Given the description of an element on the screen output the (x, y) to click on. 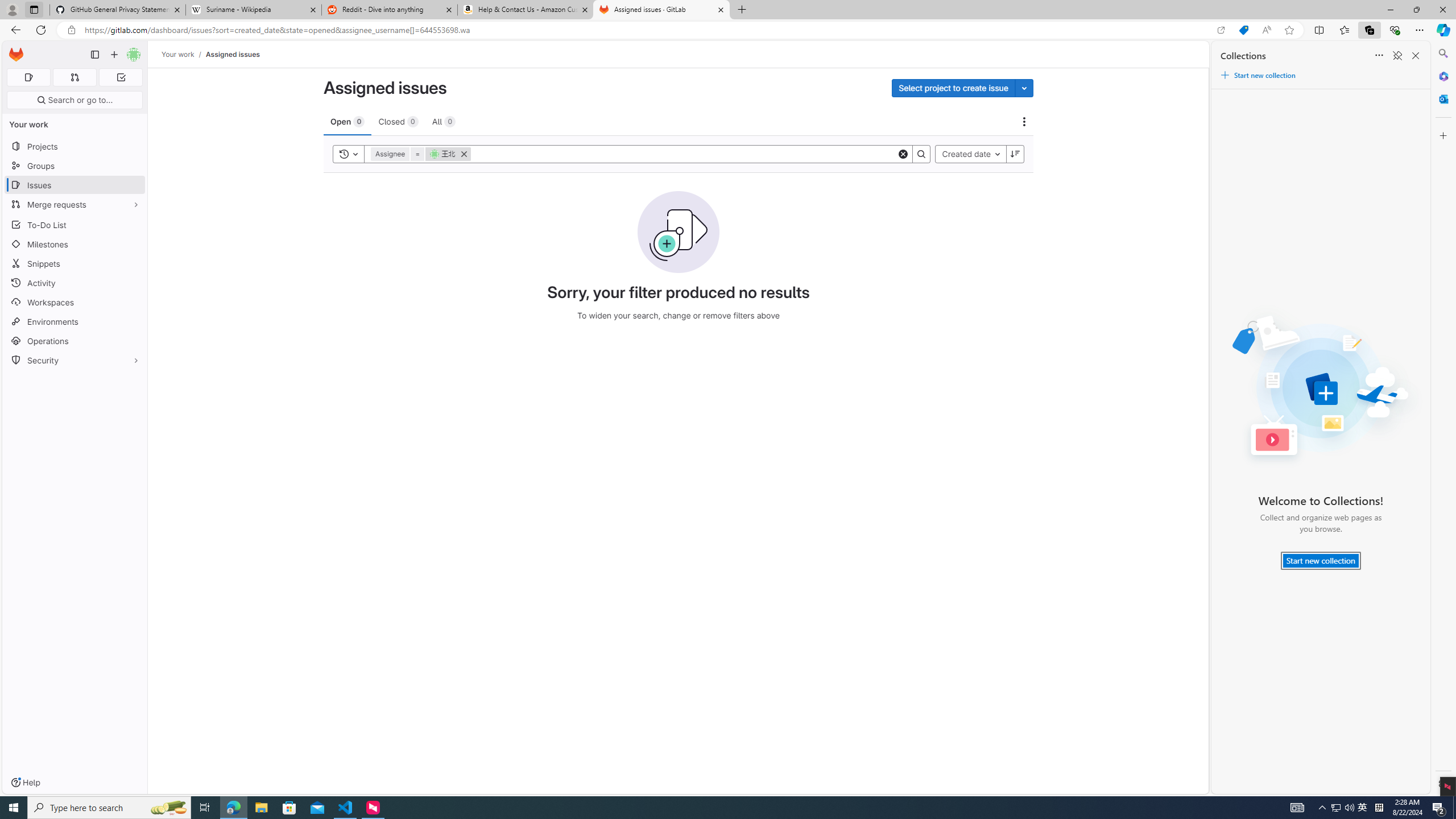
To-Do List (74, 224)
Groups (74, 165)
To-Do List (74, 224)
All 0 (444, 121)
Unpin Collections (1397, 55)
Milestones (74, 244)
Snippets (74, 262)
Start new collection (1321, 560)
Merge requests (74, 203)
Assigned issues (232, 53)
